Given the description of an element on the screen output the (x, y) to click on. 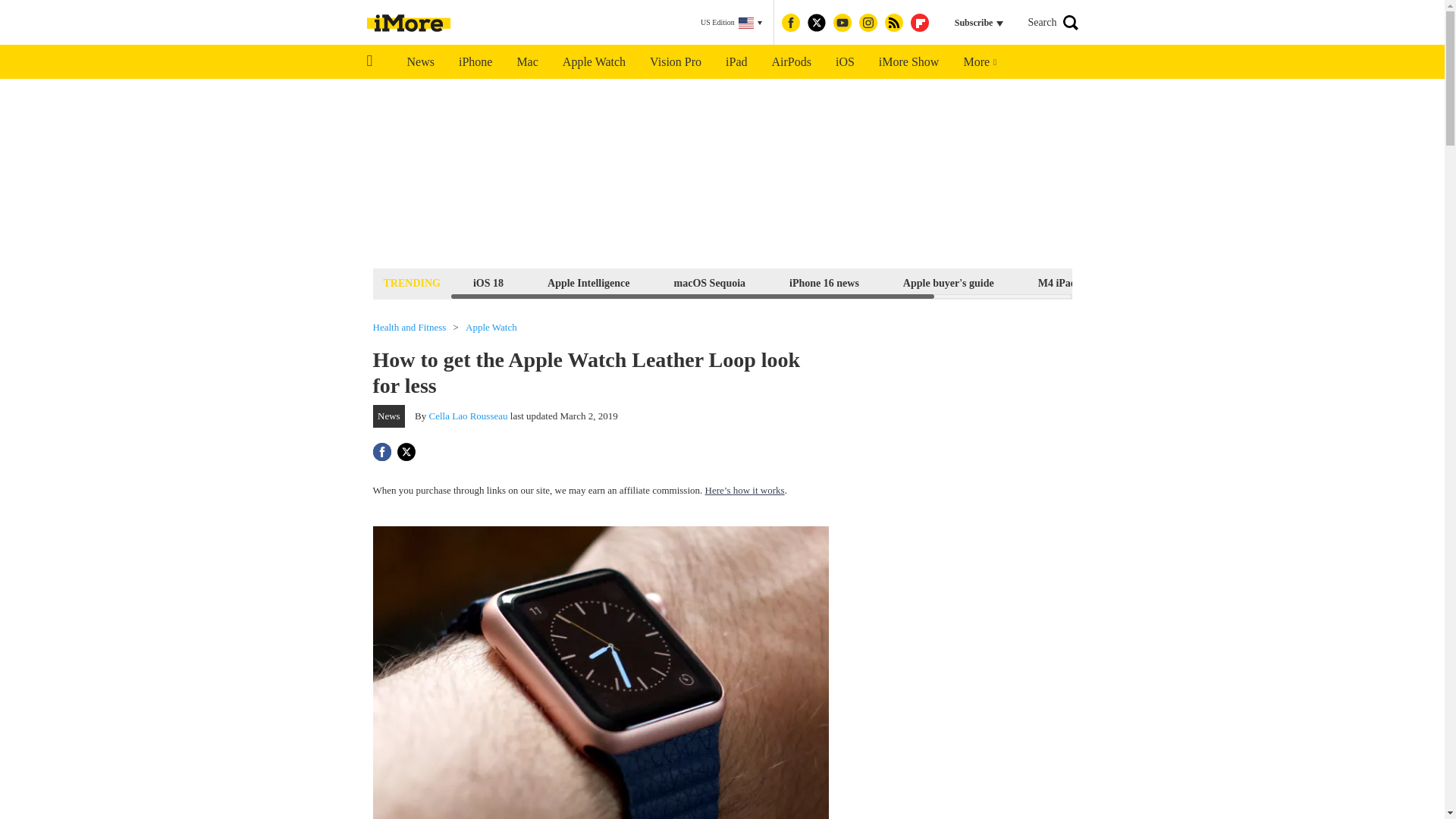
AirPods (792, 61)
Mac (526, 61)
iMore Show (909, 61)
iPhone (474, 61)
iOS (845, 61)
iPad (735, 61)
News (419, 61)
Vision Pro (675, 61)
US Edition (731, 22)
Apple Watch (593, 61)
